Given the description of an element on the screen output the (x, y) to click on. 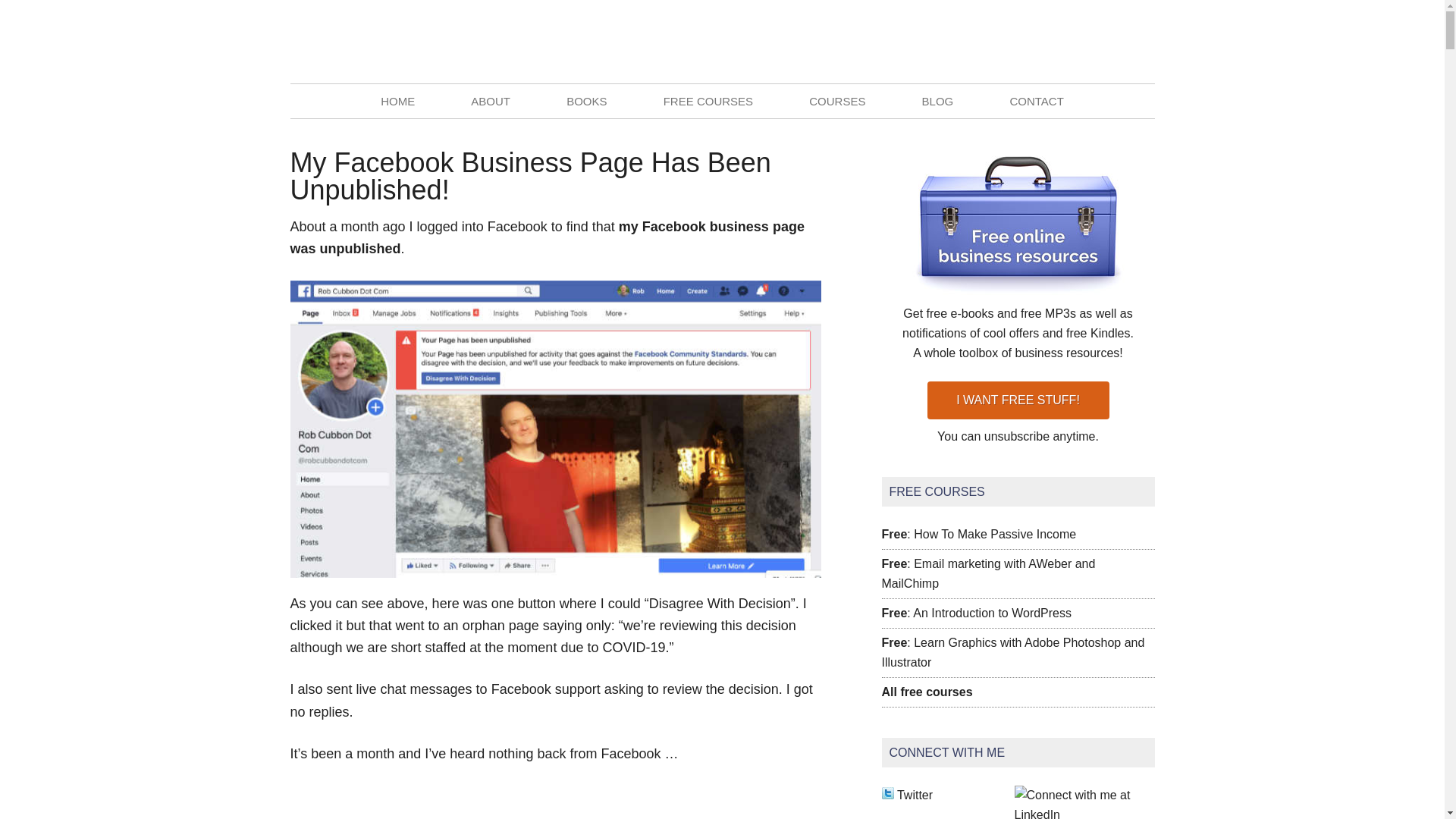
Follow me on Twitter (886, 794)
COURSES (837, 100)
Twitter (1109, 41)
Connect with me at LinkedIn (1077, 813)
FREE COURSES (707, 100)
YouTube (1142, 41)
CONTACT (1035, 100)
HOME (397, 100)
Twitter (1109, 41)
Follow me on Twitter (914, 794)
